Given the description of an element on the screen output the (x, y) to click on. 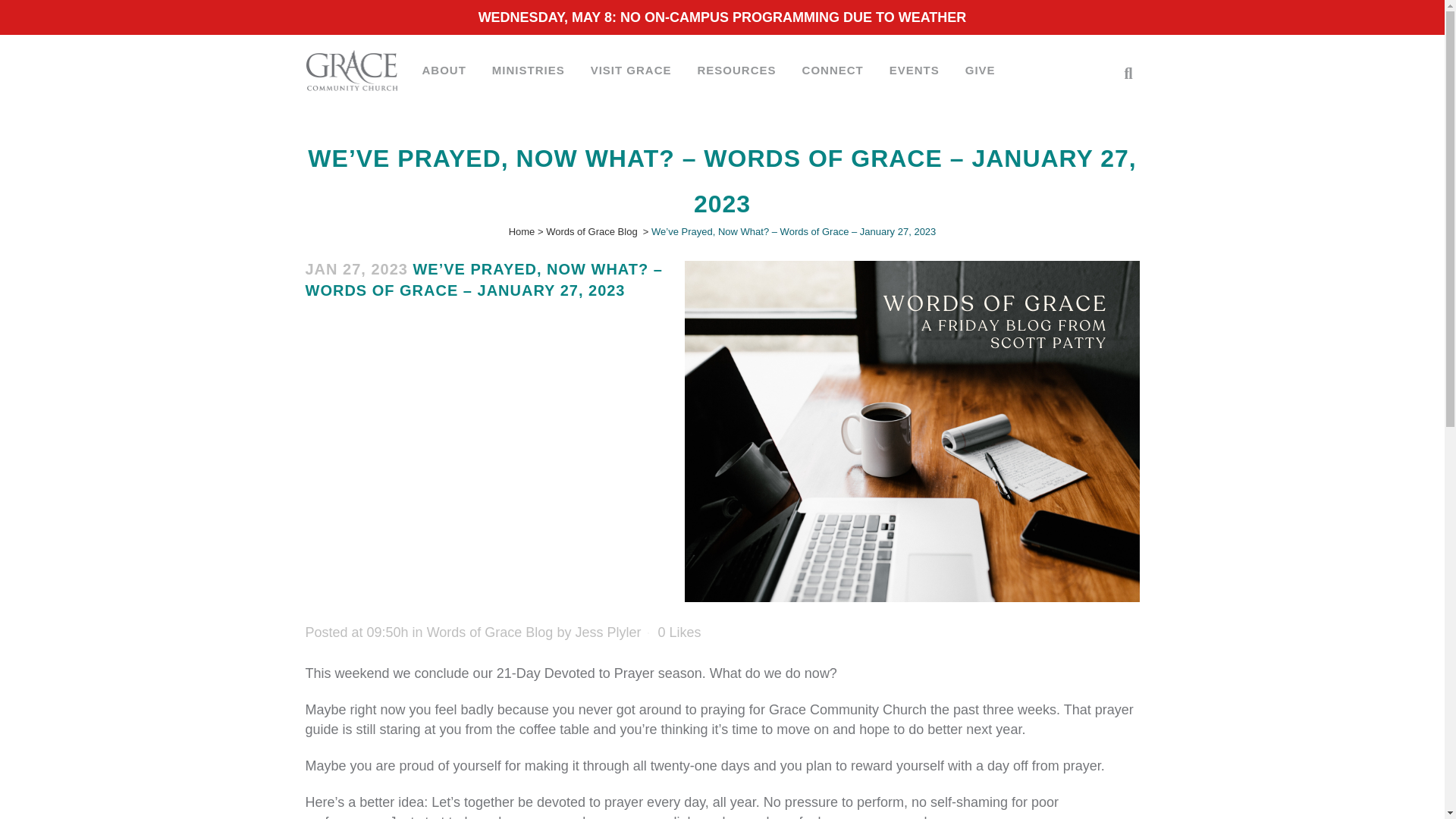
MINISTRIES (528, 70)
RESOURCES (736, 70)
ABOUT (444, 70)
VISIT GRACE (631, 70)
Like this (679, 632)
